Given the description of an element on the screen output the (x, y) to click on. 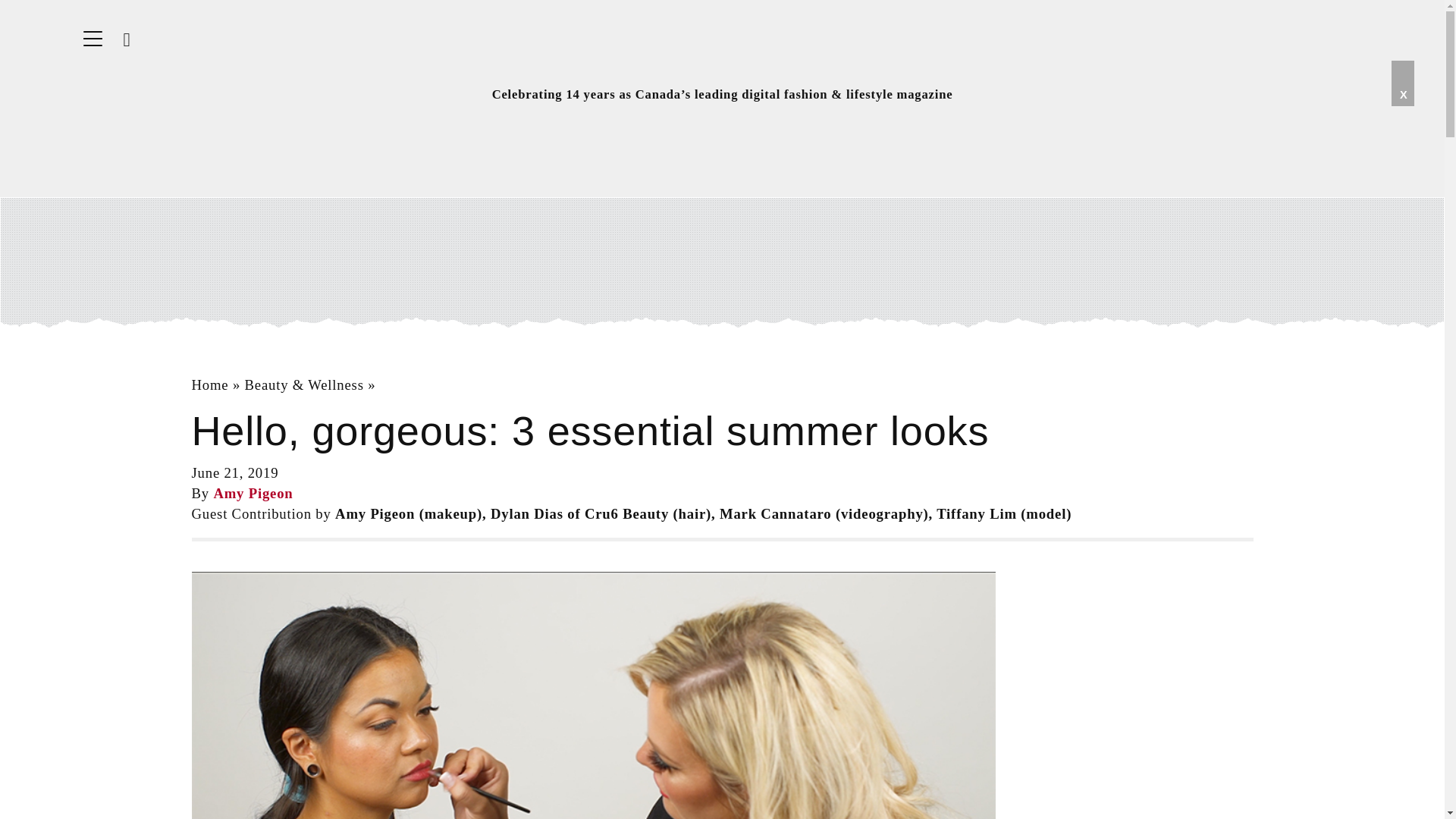
Amy Pigeon (252, 493)
Advertisement (722, 262)
Advertisement (1138, 666)
Home (209, 384)
Advertisement (1138, 799)
